Given the description of an element on the screen output the (x, y) to click on. 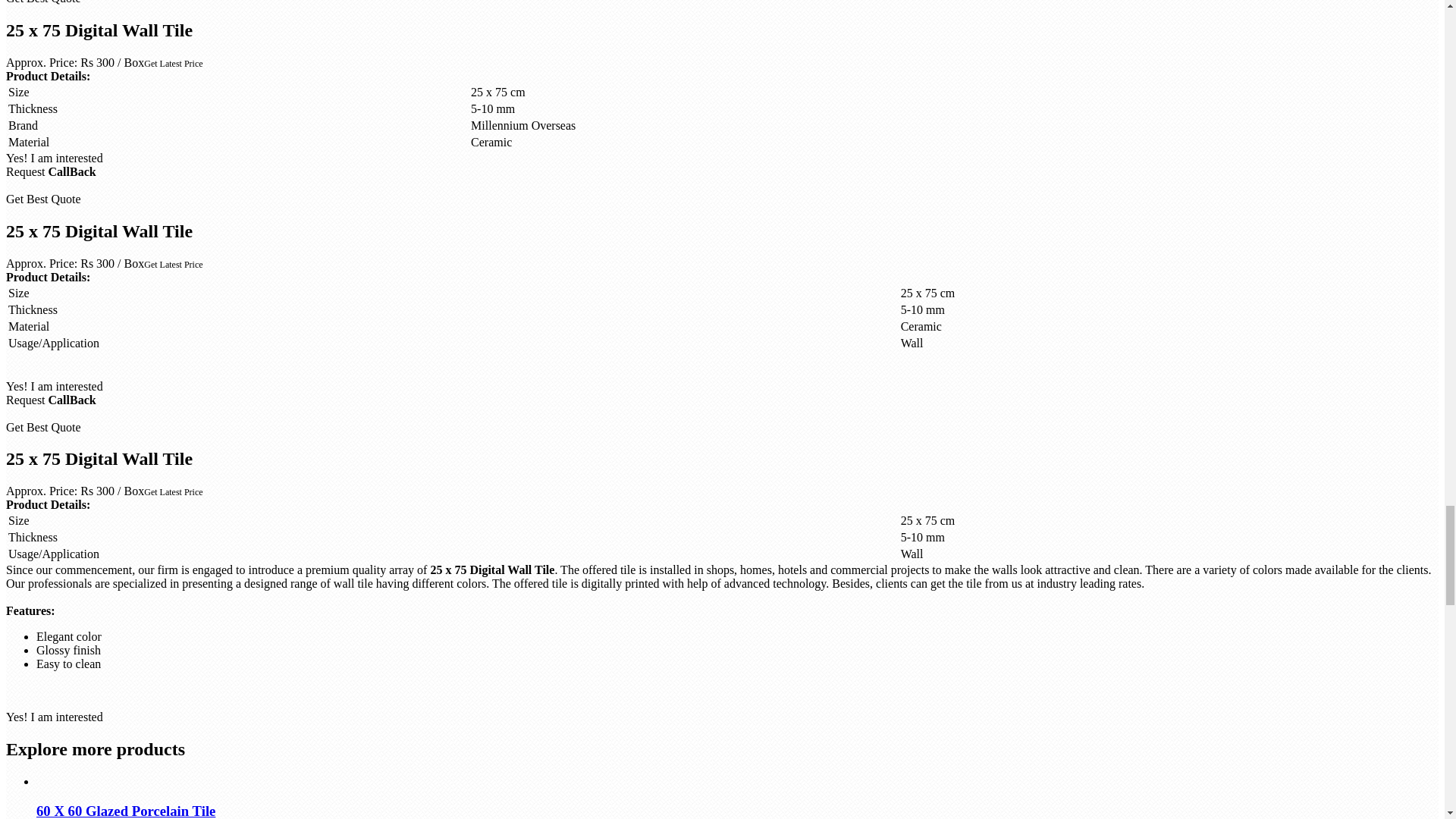
60 X 60 Glazed Porcelain Tile (125, 811)
